Given the description of an element on the screen output the (x, y) to click on. 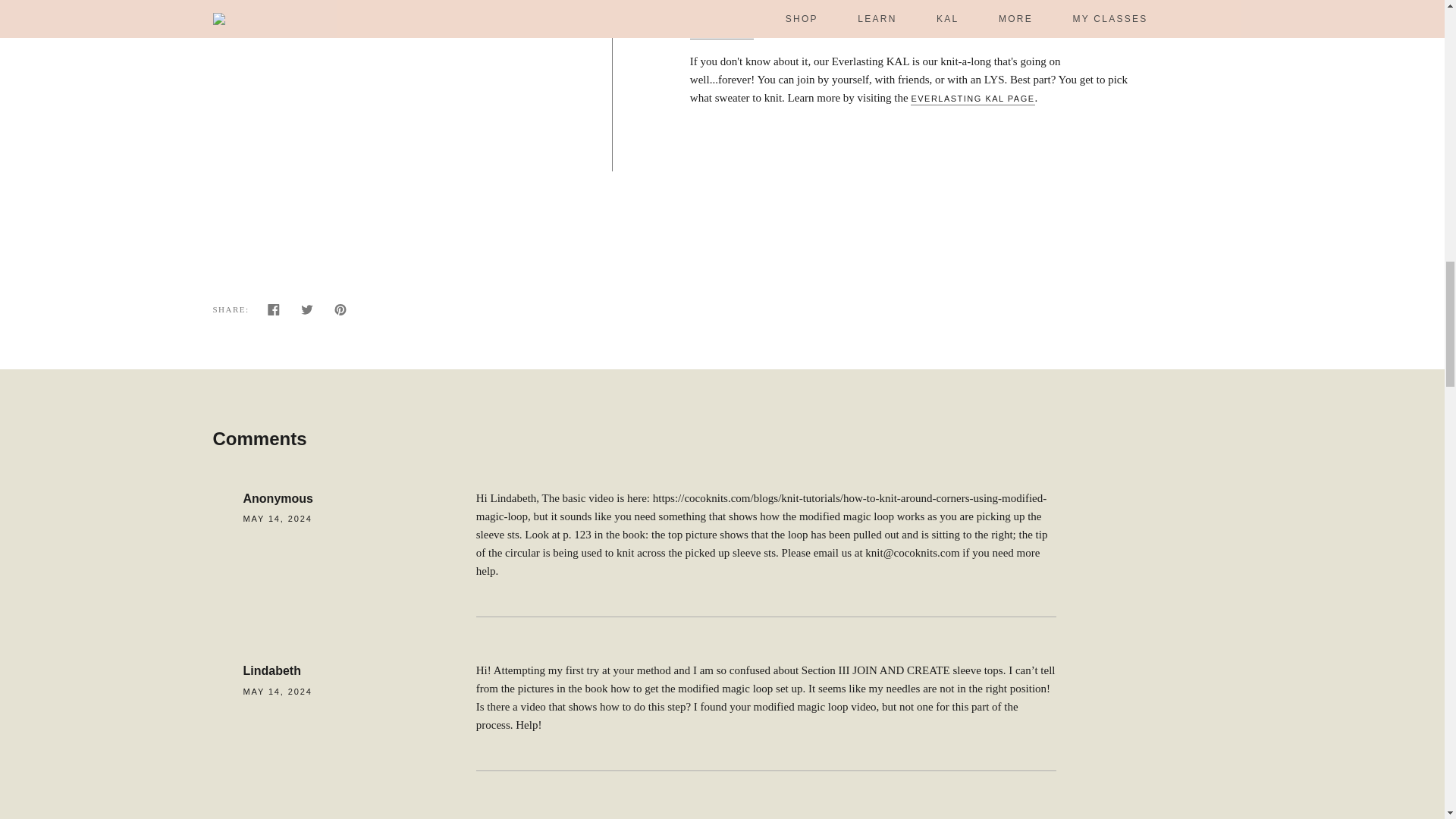
Tweet on Twitter (306, 313)
Pin on Pinterest (339, 313)
Send email (374, 313)
Share on Facebook (273, 313)
